Given the description of an element on the screen output the (x, y) to click on. 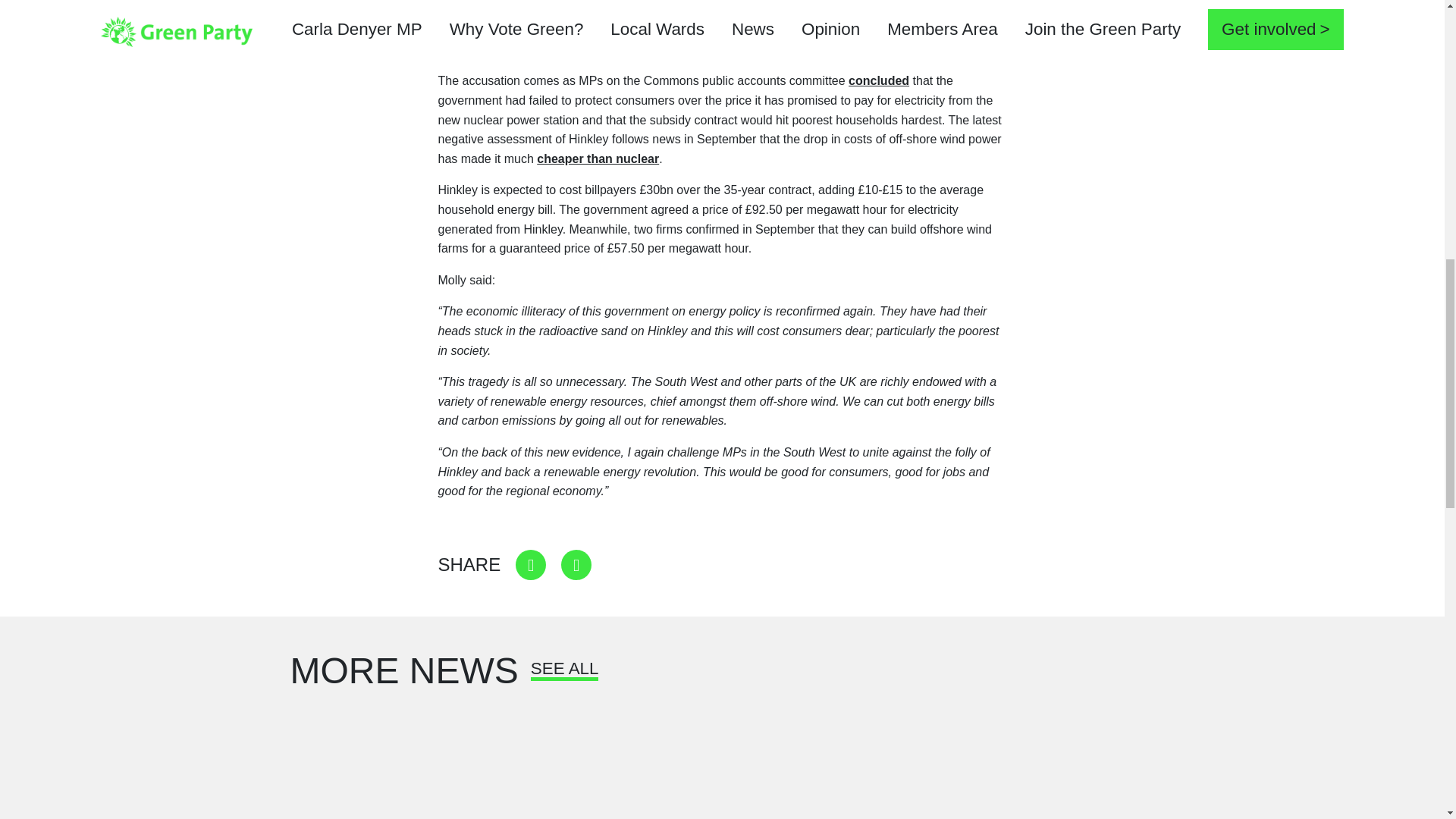
concluded (878, 80)
cheaper than nuclear (598, 158)
SEE ALL (564, 673)
